Given the description of an element on the screen output the (x, y) to click on. 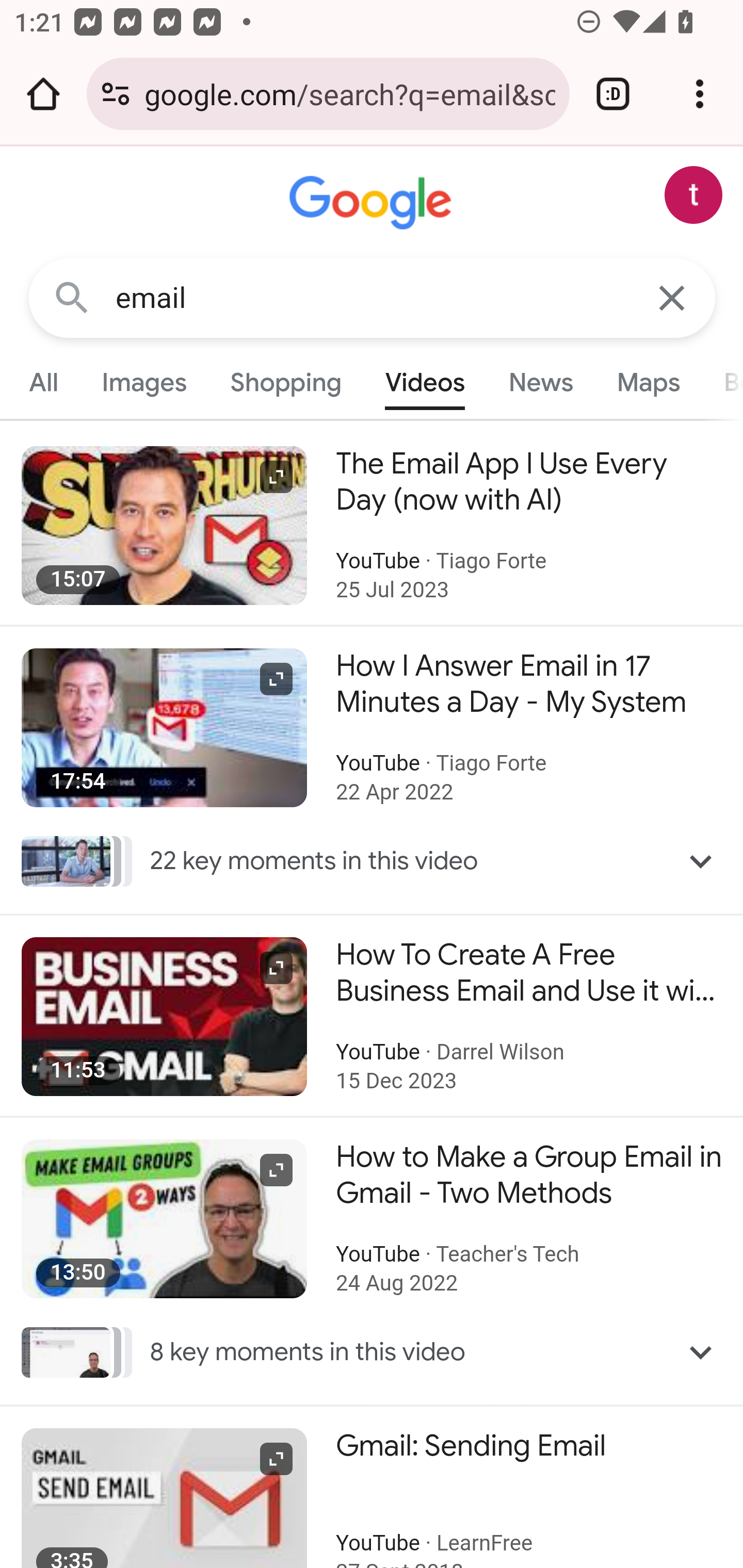
Open the home page (43, 93)
Connection is secure (115, 93)
Switch or close tabs (612, 93)
Customize and control Google Chrome (699, 93)
Google (372, 203)
Google Search (71, 296)
Clear Search (672, 296)
email (372, 297)
All (43, 382)
Images (144, 382)
Shopping (285, 382)
News (540, 382)
Maps (647, 382)
22 key moments in this video (372, 860)
8 key moments in this video (372, 1352)
